Given the description of an element on the screen output the (x, y) to click on. 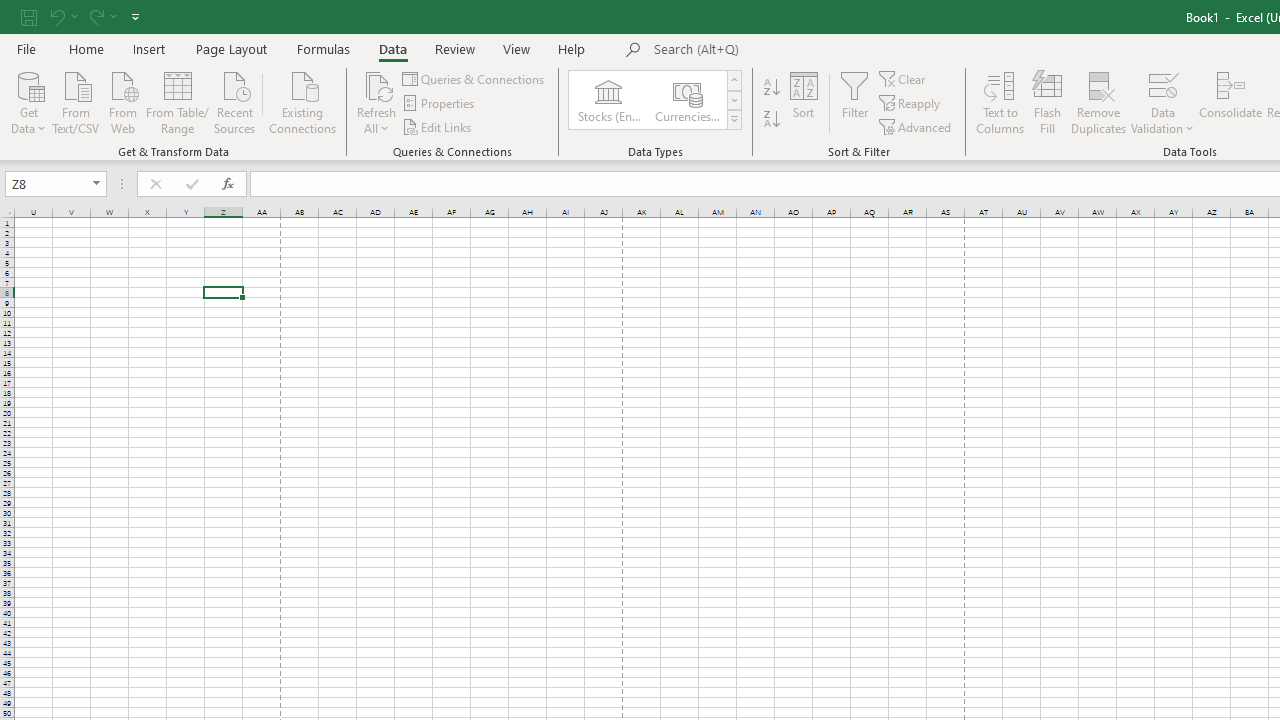
Get Data (28, 101)
Remove Duplicates (1098, 102)
Refresh All (376, 102)
Clear (903, 78)
Consolidate... (1230, 102)
Formulas (323, 48)
Refresh All (376, 84)
From Web (122, 101)
